Given the description of an element on the screen output the (x, y) to click on. 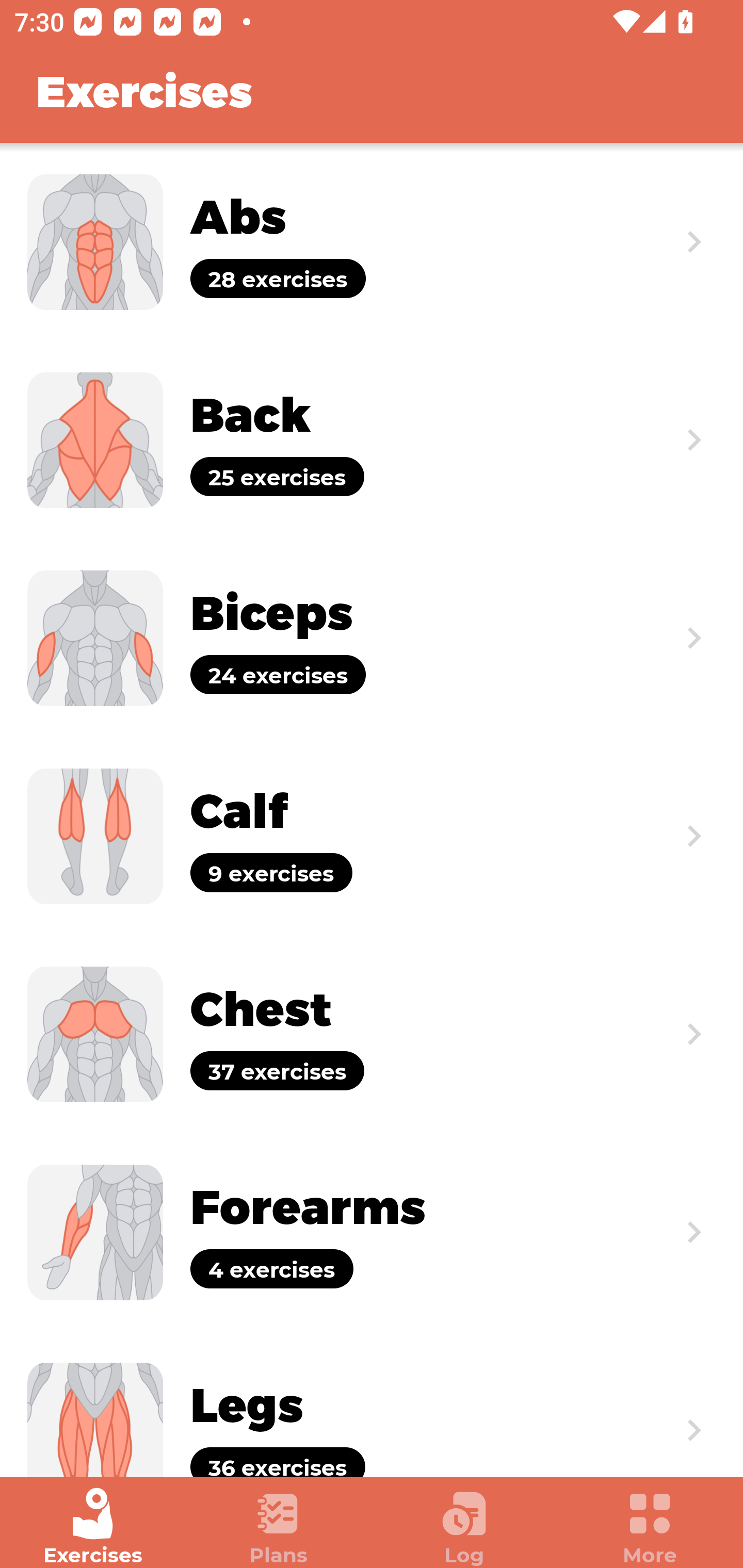
Exercise Abs 28 exercises (371, 241)
Exercise Back 25 exercises (371, 439)
Exercise Biceps 24 exercises (371, 637)
Exercise Calf 9 exercises (371, 836)
Exercise Chest 37 exercises (371, 1033)
Exercise Forearms 4 exercises (371, 1232)
Exercise Legs 36 exercises (371, 1404)
Exercises (92, 1527)
Plans (278, 1527)
Log (464, 1527)
More (650, 1527)
